Given the description of an element on the screen output the (x, y) to click on. 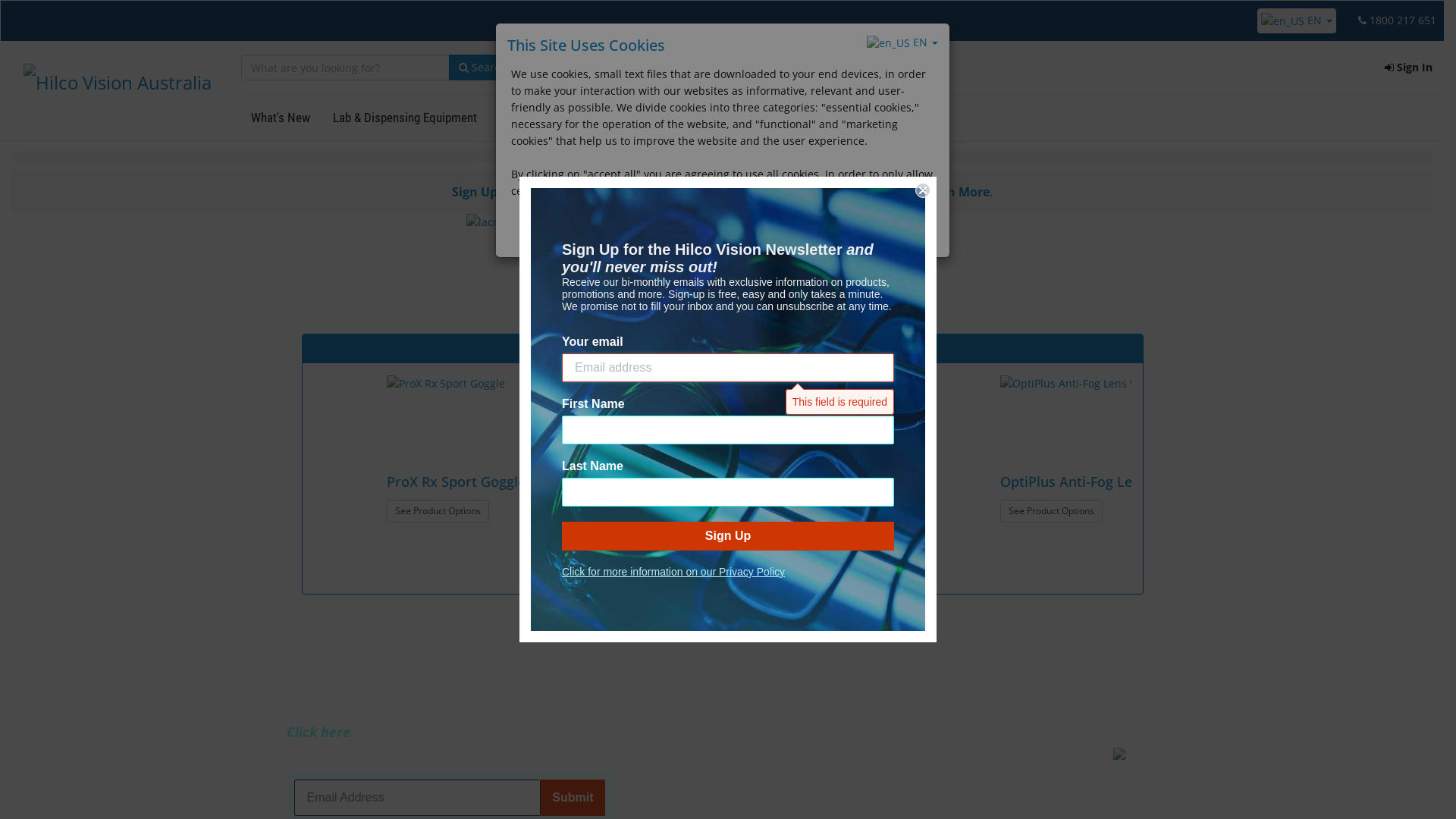
Click for more information on our Privacy Policy Element type: text (672, 571)
Sign Up Element type: text (727, 535)
Sign Up Element type: text (474, 191)
Submit Element type: text (26, 10)
Click here Element type: text (318, 731)
Lens Care Products Element type: text (689, 117)
EN Element type: text (1296, 19)
Sign In Element type: text (1408, 67)
Accept All Element type: text (631, 232)
Learn More. Element type: text (956, 191)
See Product Options Element type: text (772, 510)
Customize Settings Element type: text (808, 232)
OptiPlus Anti-Fog Lens Wipes Element type: text (816, 482)
ProX Rx Sport Goggle Element type: text (1198, 482)
What's New Element type: text (280, 117)
Blu-Ban Glasses Element type: text (978, 482)
Bionic Thumb Element type: text (358, 507)
EN Element type: text (902, 42)
Eyewear & Accessories Element type: text (558, 117)
Search Element type: text (482, 67)
See Product Options Element type: text (364, 535)
See Product Options Element type: text (977, 510)
Lab & Dispensing Equipment Element type: text (404, 117)
Custom Products Element type: text (807, 117)
Submit Element type: text (572, 797)
See Product Options Element type: text (1177, 510)
